Given the description of an element on the screen output the (x, y) to click on. 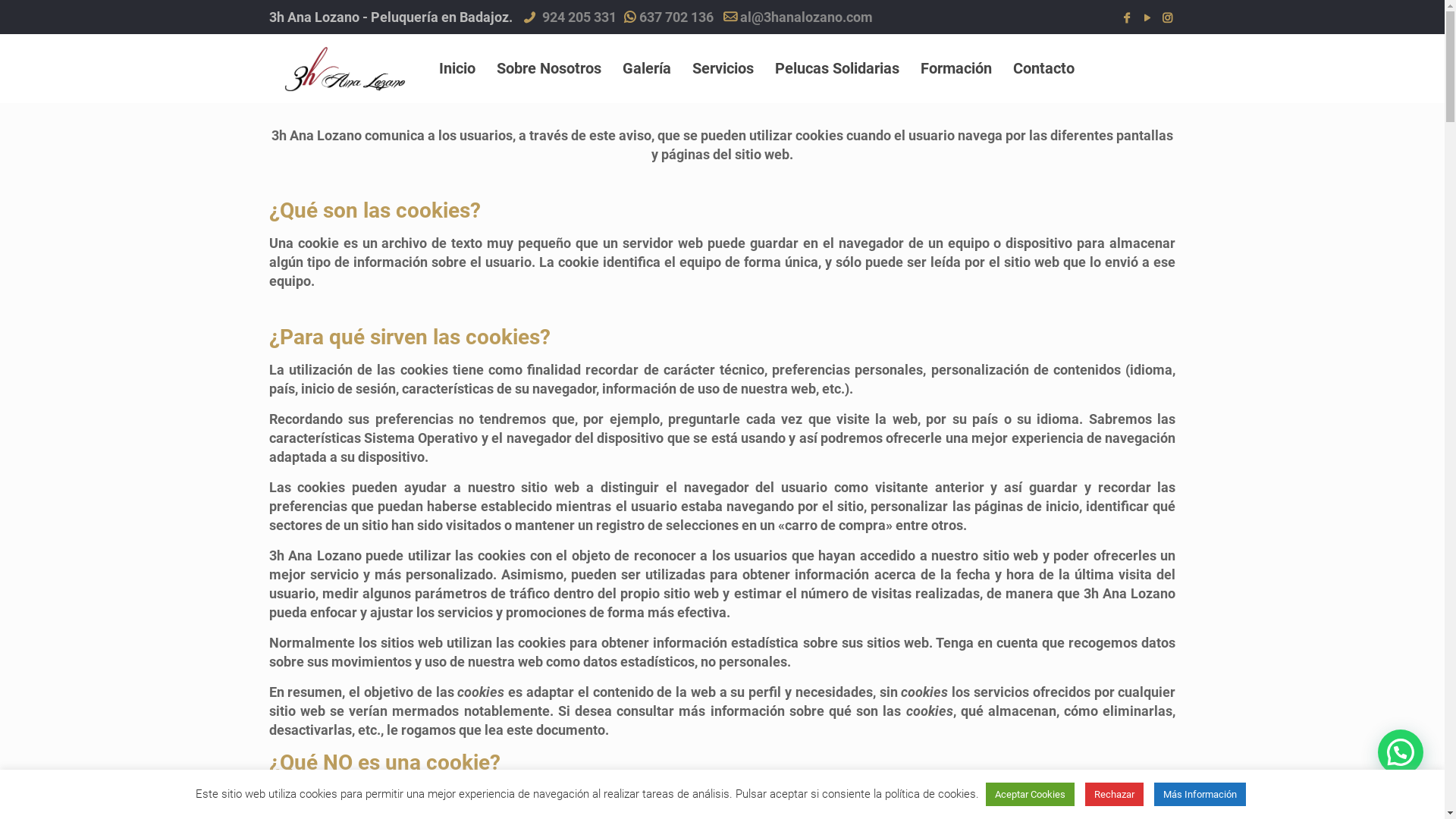
Pelucas Solidarias Element type: text (837, 68)
Servicios Element type: text (722, 68)
YouTube Element type: hover (1146, 18)
Inicio Element type: text (457, 68)
637 702 136 Element type: text (676, 17)
Sobre Nosotros Element type: text (548, 68)
Aceptar Cookies Element type: text (1029, 794)
Contacto Element type: text (1043, 68)
al@3hanalozano.com Element type: text (806, 17)
Facebook Element type: hover (1126, 18)
Rechazar Element type: text (1113, 794)
924 205 331 Element type: text (577, 17)
Instagram Element type: hover (1167, 18)
